Given the description of an element on the screen output the (x, y) to click on. 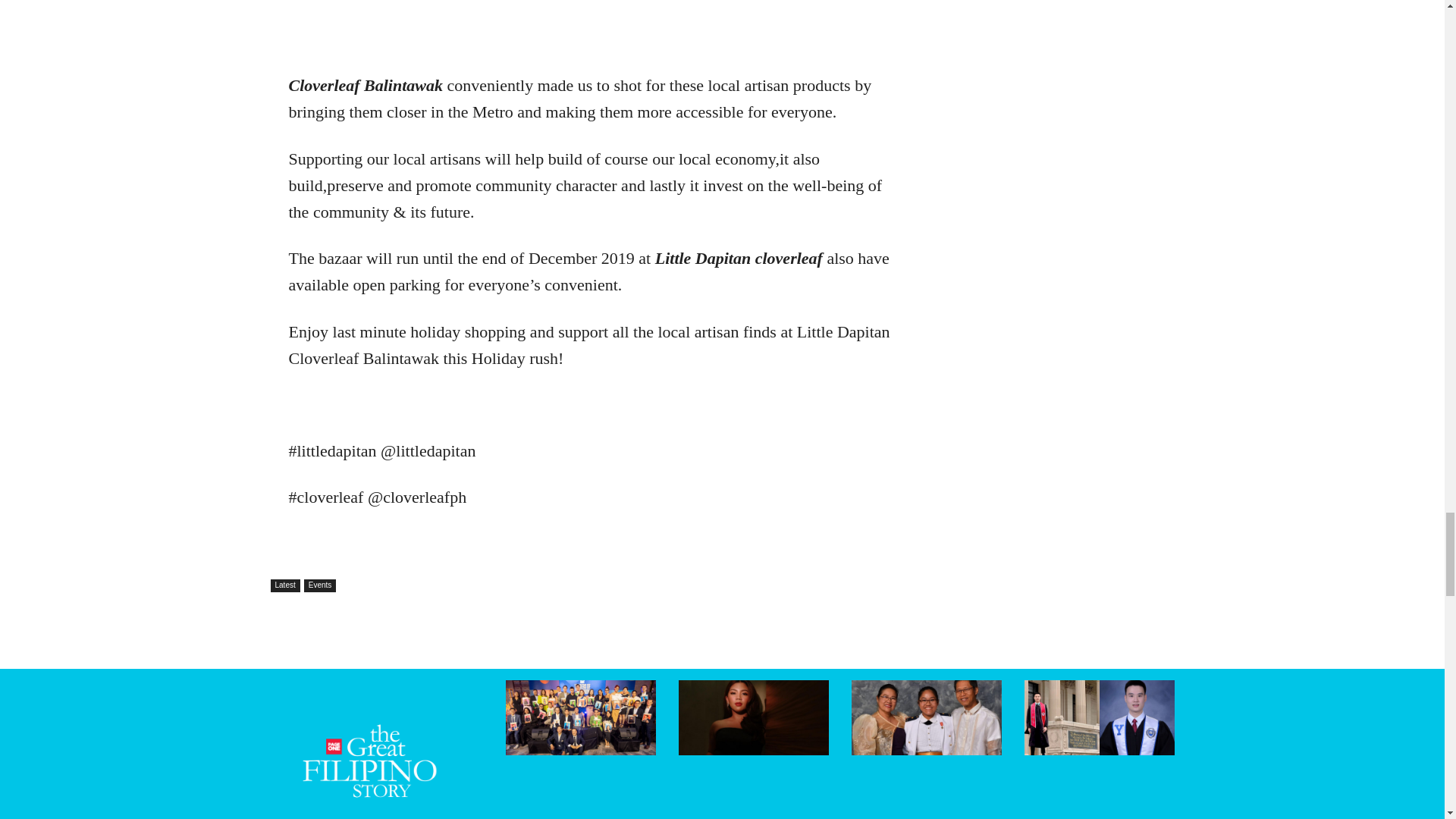
Events (320, 585)
Latest (284, 585)
